Given the description of an element on the screen output the (x, y) to click on. 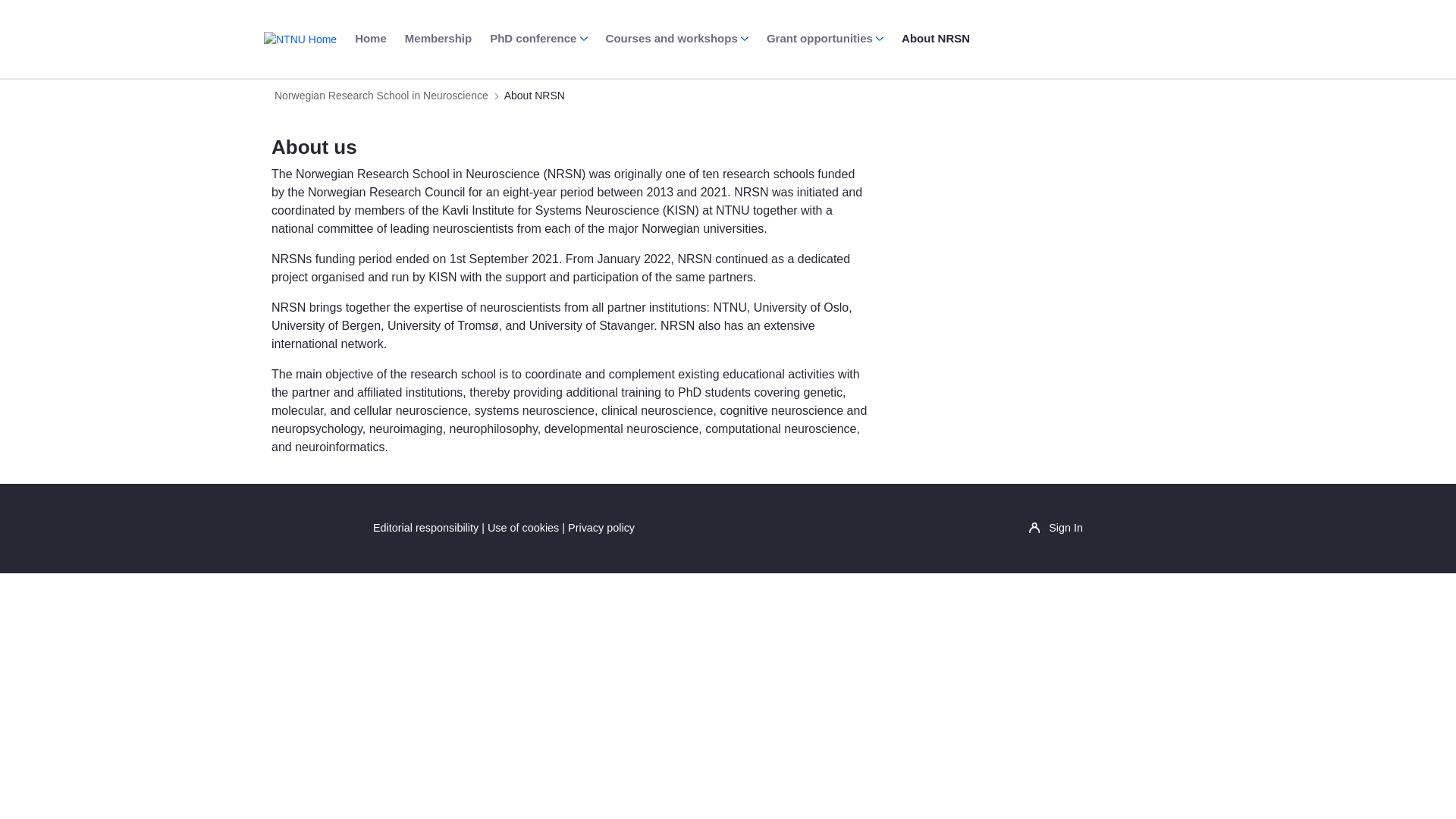
PhD conference (537, 38)
Courses and workshops (676, 38)
Home (371, 38)
Privacy policy (600, 527)
About NRSN (935, 38)
Use of cookies (523, 527)
Sign In (1056, 527)
Norwegian Research School in Neuroscience (381, 95)
Editorial responsibility (425, 527)
Norwegian Research School in Neuroscience (381, 95)
Grant opportunities (824, 38)
Membership (437, 38)
About NRSN (533, 95)
